Given the description of an element on the screen output the (x, y) to click on. 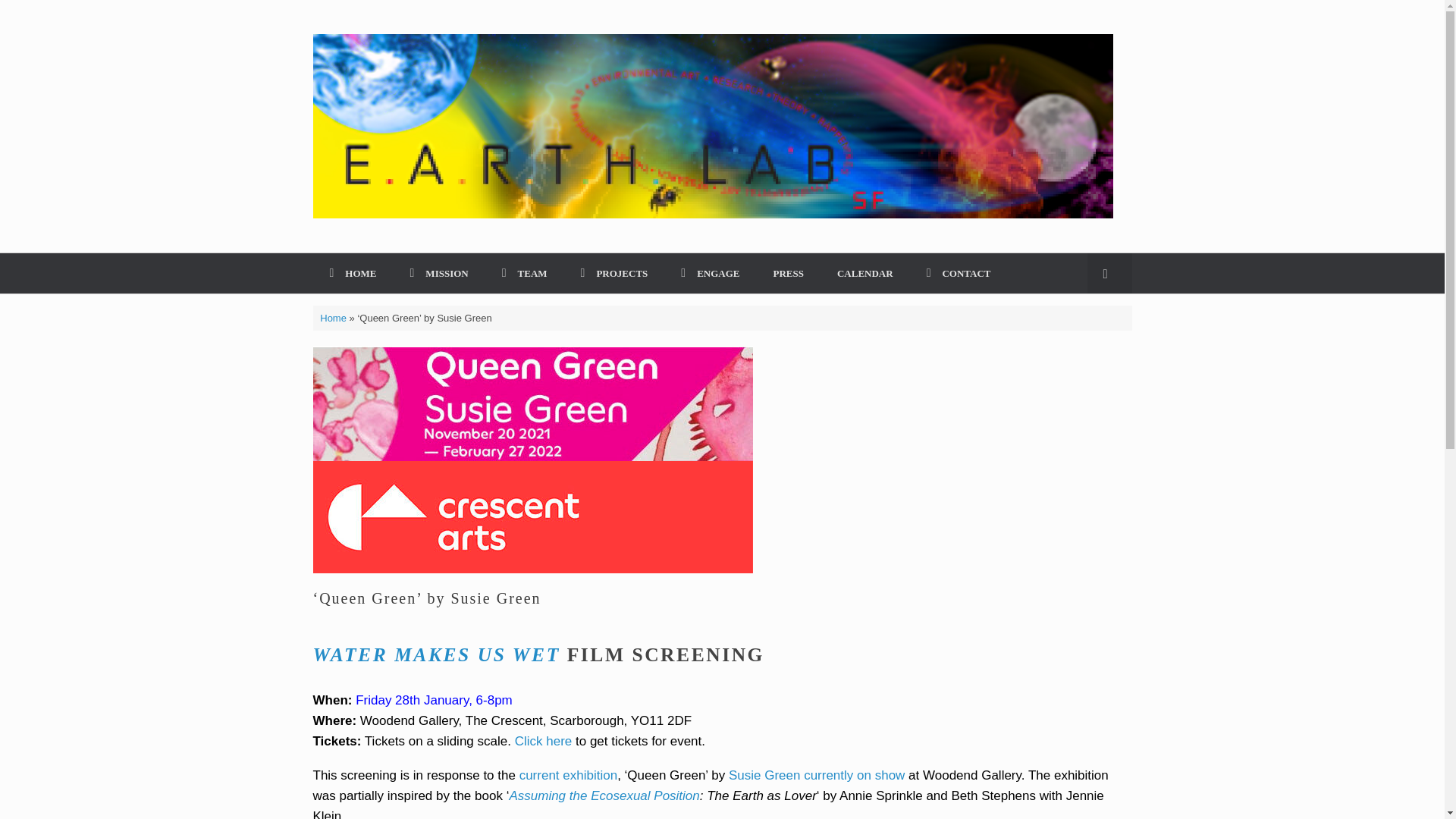
Assuming the Ecosexual Position (603, 795)
CALENDAR (865, 273)
Susie Green currently on show (816, 774)
TEAM (524, 273)
ENGAGE (709, 273)
current exhibition (568, 774)
Home (333, 317)
CONTACT (958, 273)
MISSION (438, 273)
PRESS (789, 273)
HOME (353, 273)
WATER MAKES US WET (436, 654)
PROJECTS (614, 273)
Click here (543, 740)
